Given the description of an element on the screen output the (x, y) to click on. 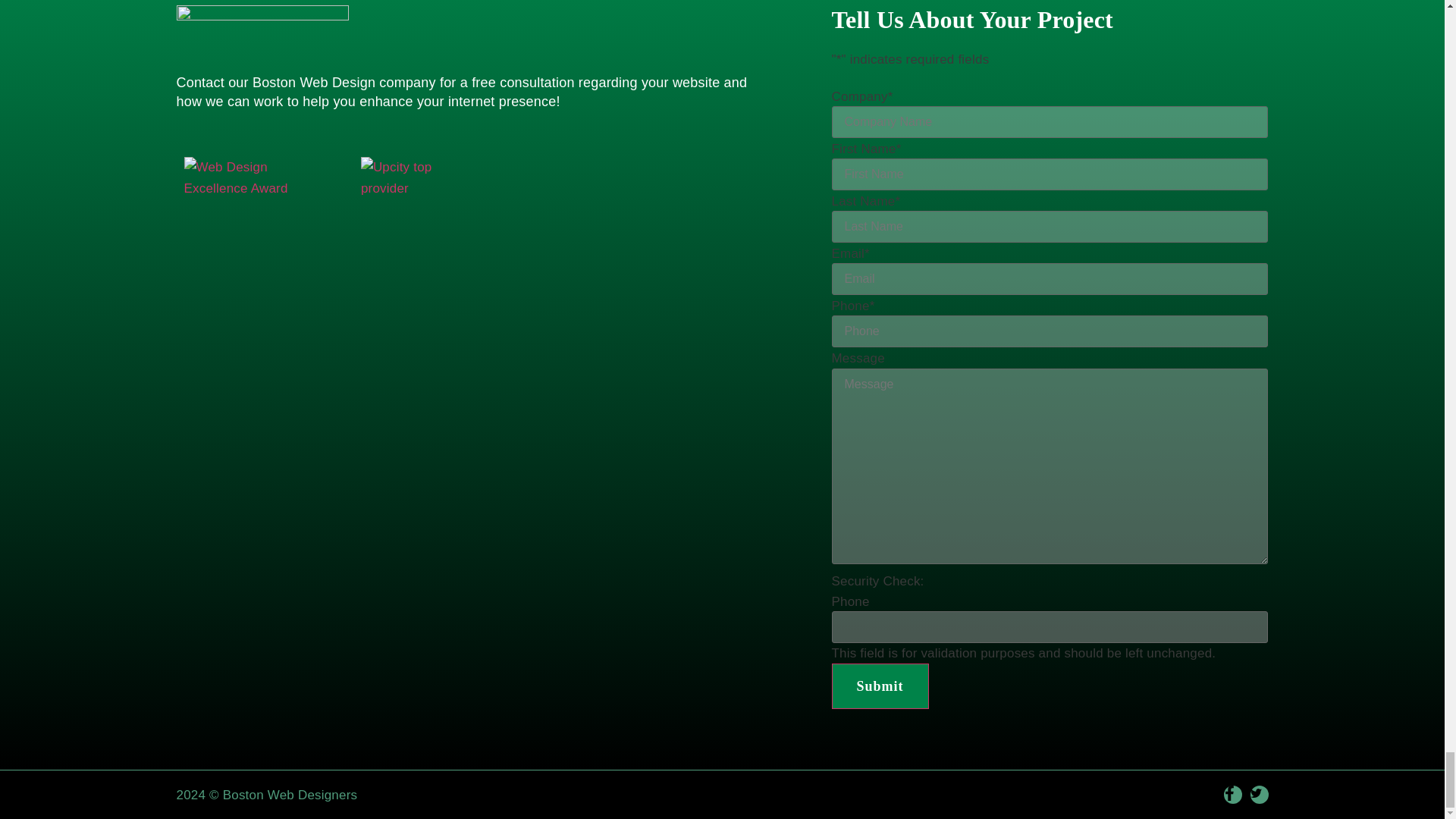
Submit (879, 686)
